Given the description of an element on the screen output the (x, y) to click on. 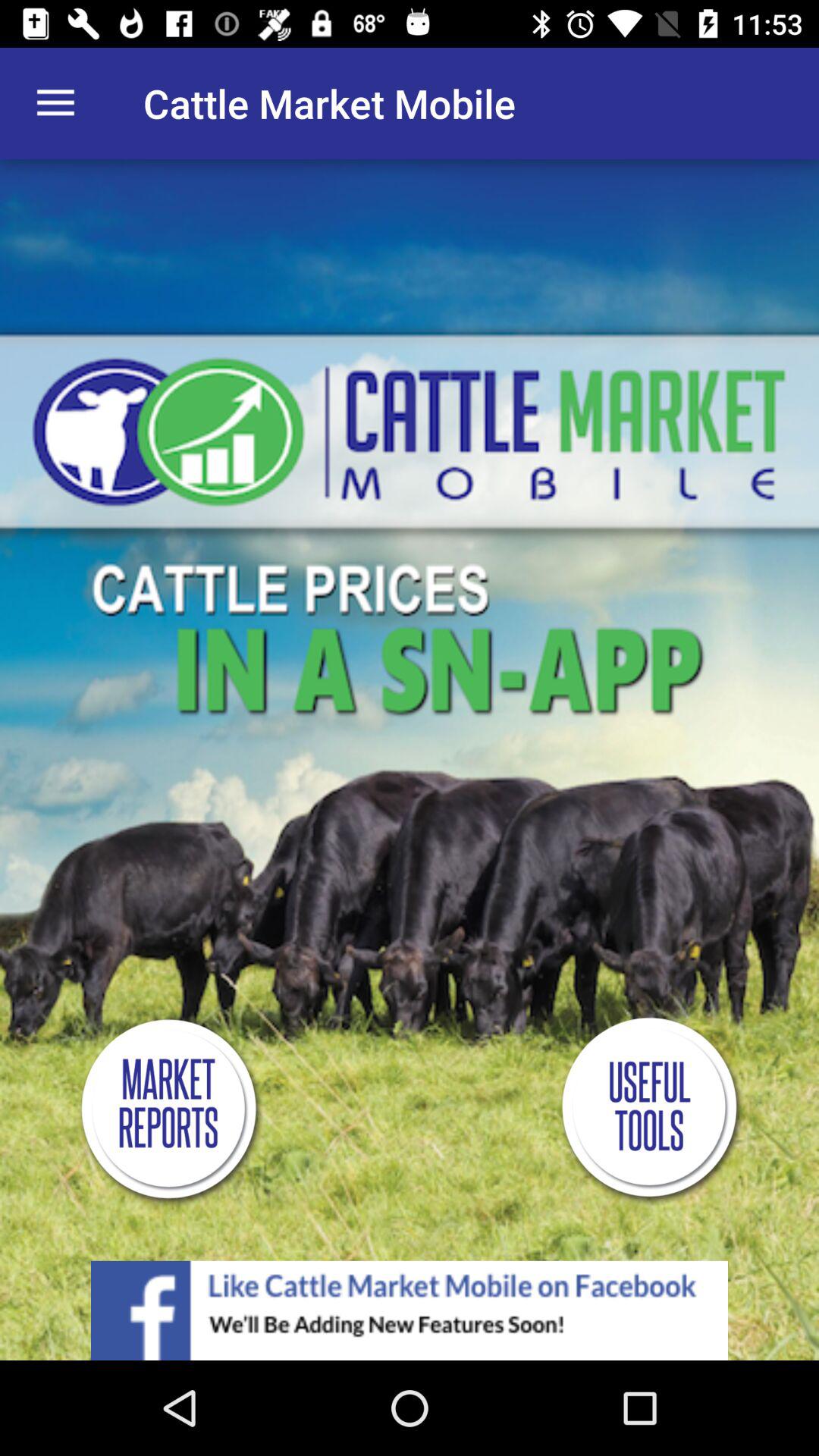
click an advertisement (409, 1310)
